Given the description of an element on the screen output the (x, y) to click on. 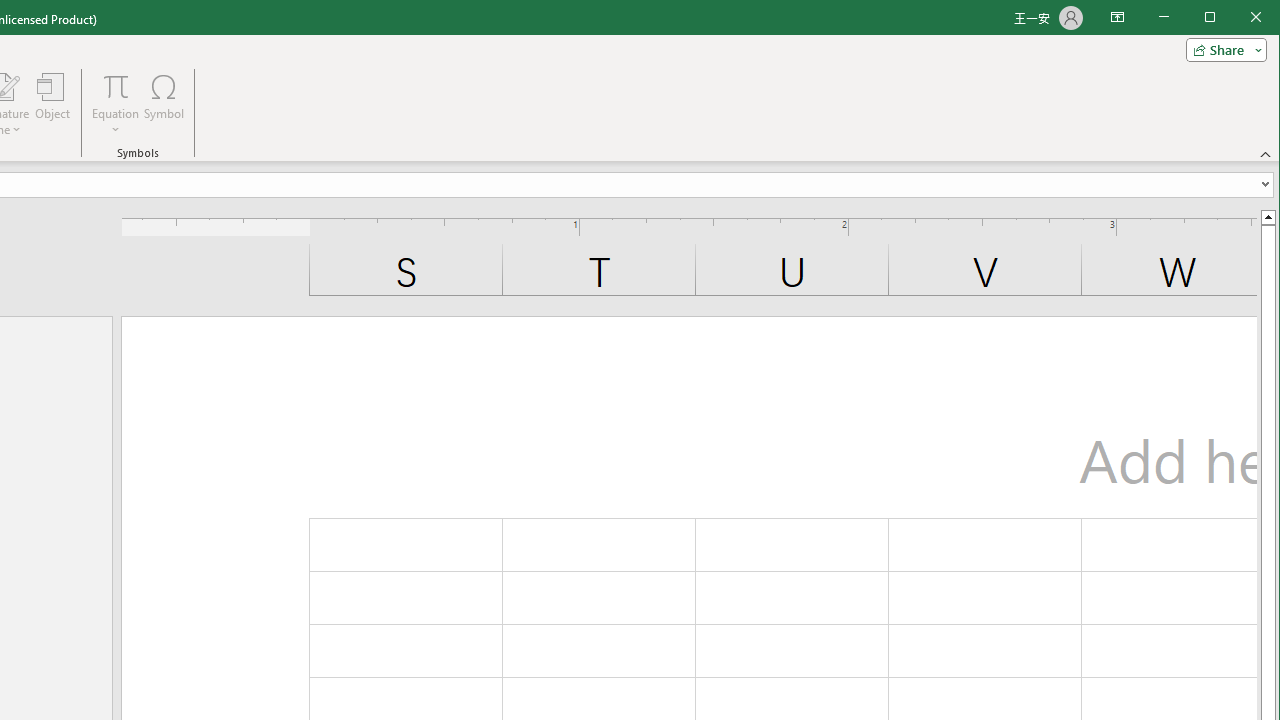
Object... (53, 104)
Equation (115, 104)
Symbol... (164, 104)
Maximize (1238, 18)
Equation (115, 86)
